Given the description of an element on the screen output the (x, y) to click on. 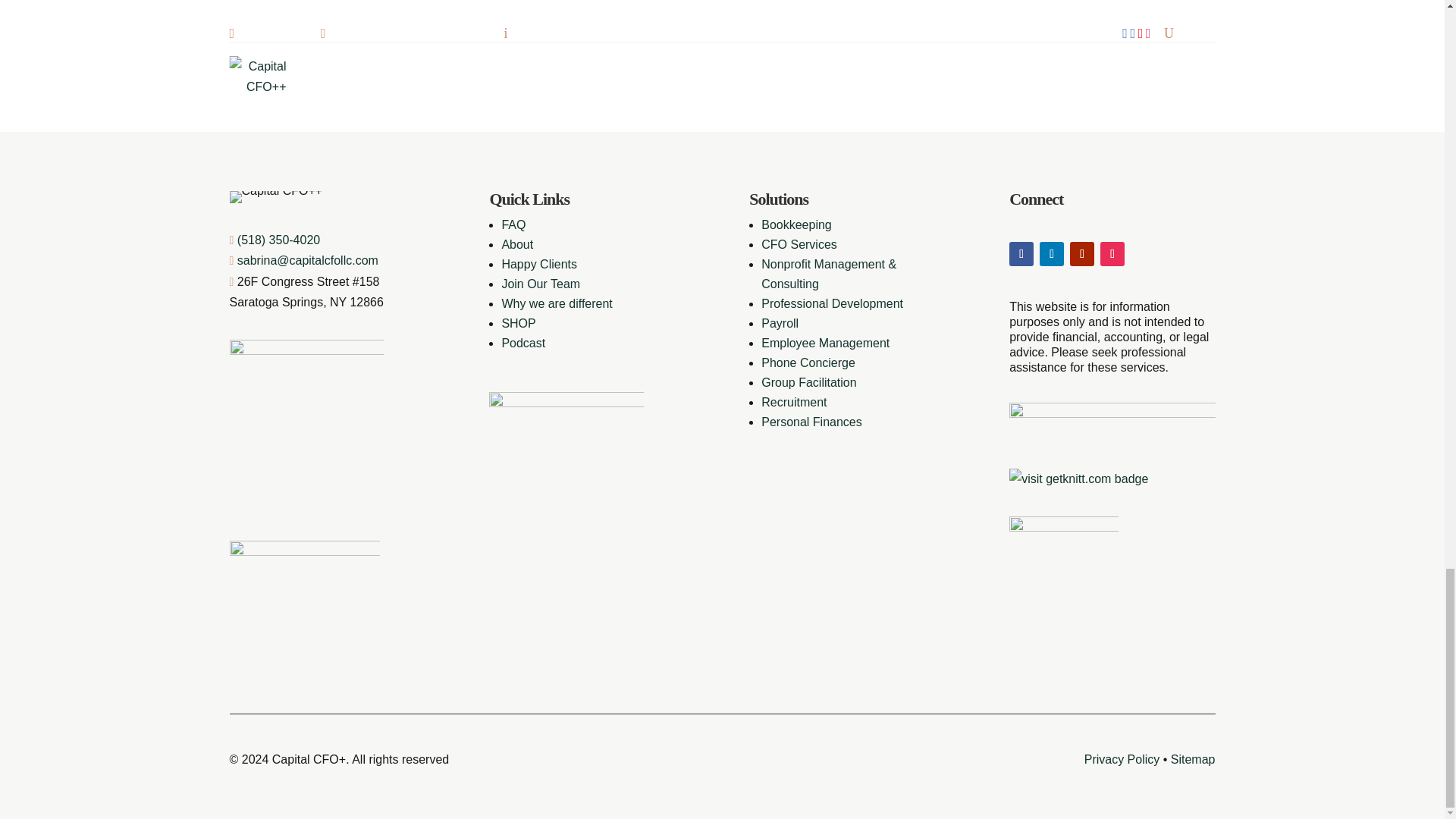
Follow on Facebook (1021, 253)
Follow on Youtube (1082, 253)
638569214556414939 (303, 615)
shrm-certified-professional-shrm-cp (1063, 570)
Follow on Instagram (1112, 253)
Follow on LinkedIn (1051, 253)
WBElogo (1111, 422)
